Given the description of an element on the screen output the (x, y) to click on. 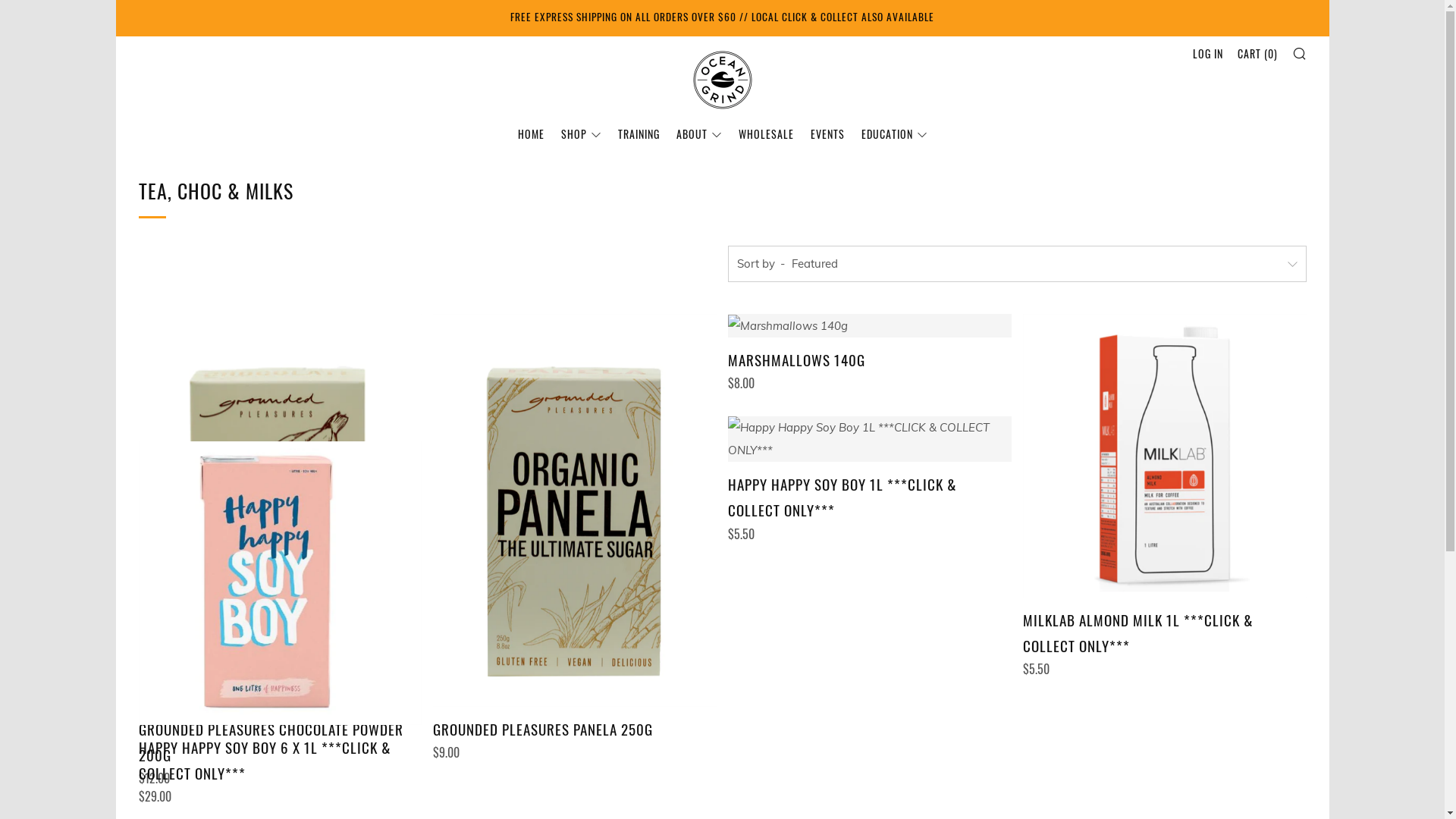
MilkLab Almond Milk 1L ***CLICK & COLLECT ONLY*** Element type: hover (1164, 455)
SEARCH Element type: text (1299, 52)
MILKLAB ALMOND MILK 1L ***CLICK & COLLECT ONLY***
$5.50 Element type: text (1164, 640)
EVENTS Element type: text (826, 133)
MARSHMALLOWS 140G
$8.00 Element type: text (869, 367)
HOME Element type: text (530, 133)
HAPPY HAPPY SOY BOY 6 X 1L ***CLICK & COLLECT ONLY***
$29.00 Element type: text (279, 768)
WHOLESALE Element type: text (765, 133)
SHOP Element type: text (581, 133)
Grounded Pleasures Chocolate Powder 200g Element type: hover (279, 509)
EDUCATION Element type: text (894, 133)
Grounded Pleasures Panela 250g Element type: hover (574, 509)
HAPPY HAPPY SOY BOY 1L ***CLICK & COLLECT ONLY***
$5.50 Element type: text (869, 504)
Happy Happy Soy Boy 1L ***CLICK & COLLECT ONLY*** Element type: hover (869, 438)
LOG IN Element type: text (1207, 53)
ABOUT Element type: text (698, 133)
TRAINING Element type: text (637, 133)
CART (0) Element type: text (1257, 53)
GROUNDED PLEASURES PANELA 250G
$9.00 Element type: text (574, 736)
Happy Happy Soy Boy 6 x 1L ***CLICK & COLLECT ONLY*** Element type: hover (279, 582)
Marshmallows 140g Element type: hover (869, 325)
GROUNDED PLEASURES CHOCOLATE POWDER 200G
$12.00 Element type: text (279, 749)
